Given the description of an element on the screen output the (x, y) to click on. 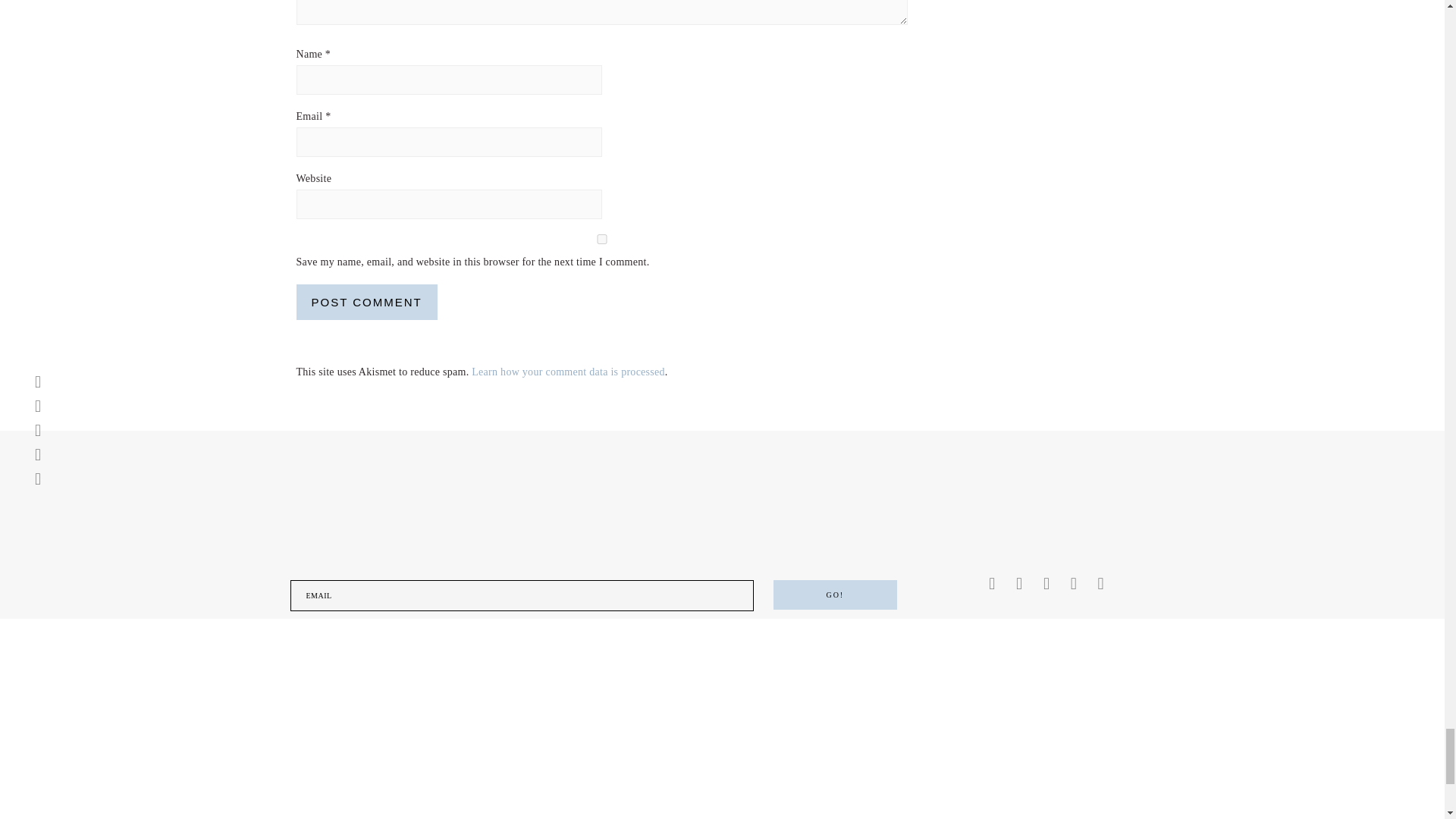
Go! (834, 594)
Post Comment (365, 302)
yes (601, 239)
